Given the description of an element on the screen output the (x, y) to click on. 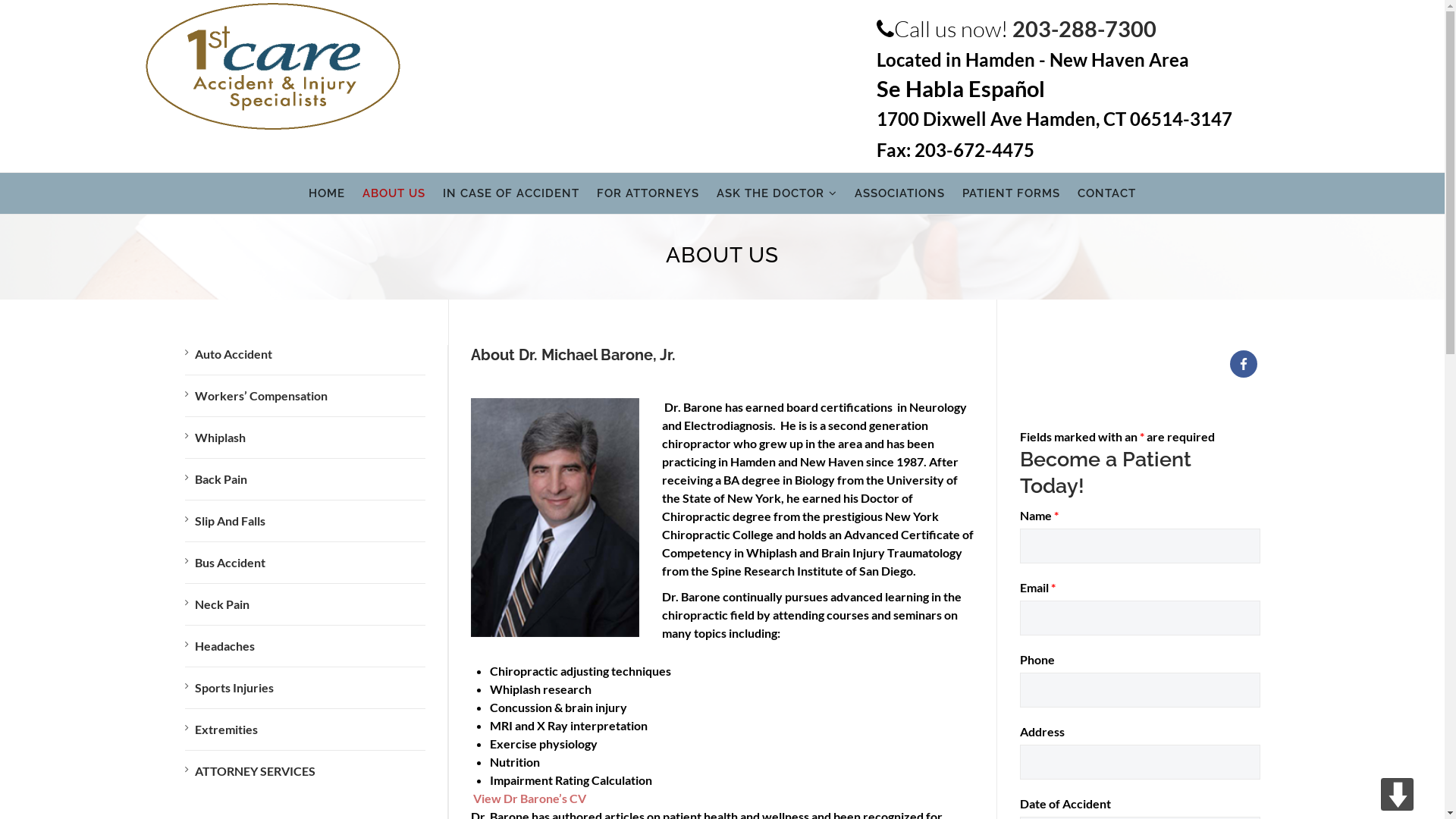
PATIENT FORMS Element type: text (1010, 193)
CONTACT Element type: text (1106, 193)
1st Care Chiropractic | New Haven Chiropractor & Rehab Element type: hover (272, 66)
Headaches Element type: text (219, 645)
IN CASE OF ACCIDENT Element type: text (510, 193)
ASSOCIATIONS Element type: text (899, 193)
203-288-7300 Element type: text (1084, 28)
Auto Accident Element type: text (228, 353)
Extremities Element type: text (221, 728)
Slip And Falls Element type: text (225, 520)
Skip to content Element type: text (266, 172)
Back Pain Element type: text (216, 478)
Neck Pain Element type: text (217, 603)
ATTORNEY SERVICES Element type: text (250, 770)
DOWN Element type: text (1397, 794)
Bus Accident Element type: text (225, 562)
HOME Element type: text (326, 193)
Sports Injuries Element type: text (229, 687)
FOR ATTORNEYS Element type: text (647, 193)
ABOUT US Element type: text (393, 193)
Whiplash Element type: text (215, 436)
ASK THE DOCTOR Element type: text (776, 193)
